Given the description of an element on the screen output the (x, y) to click on. 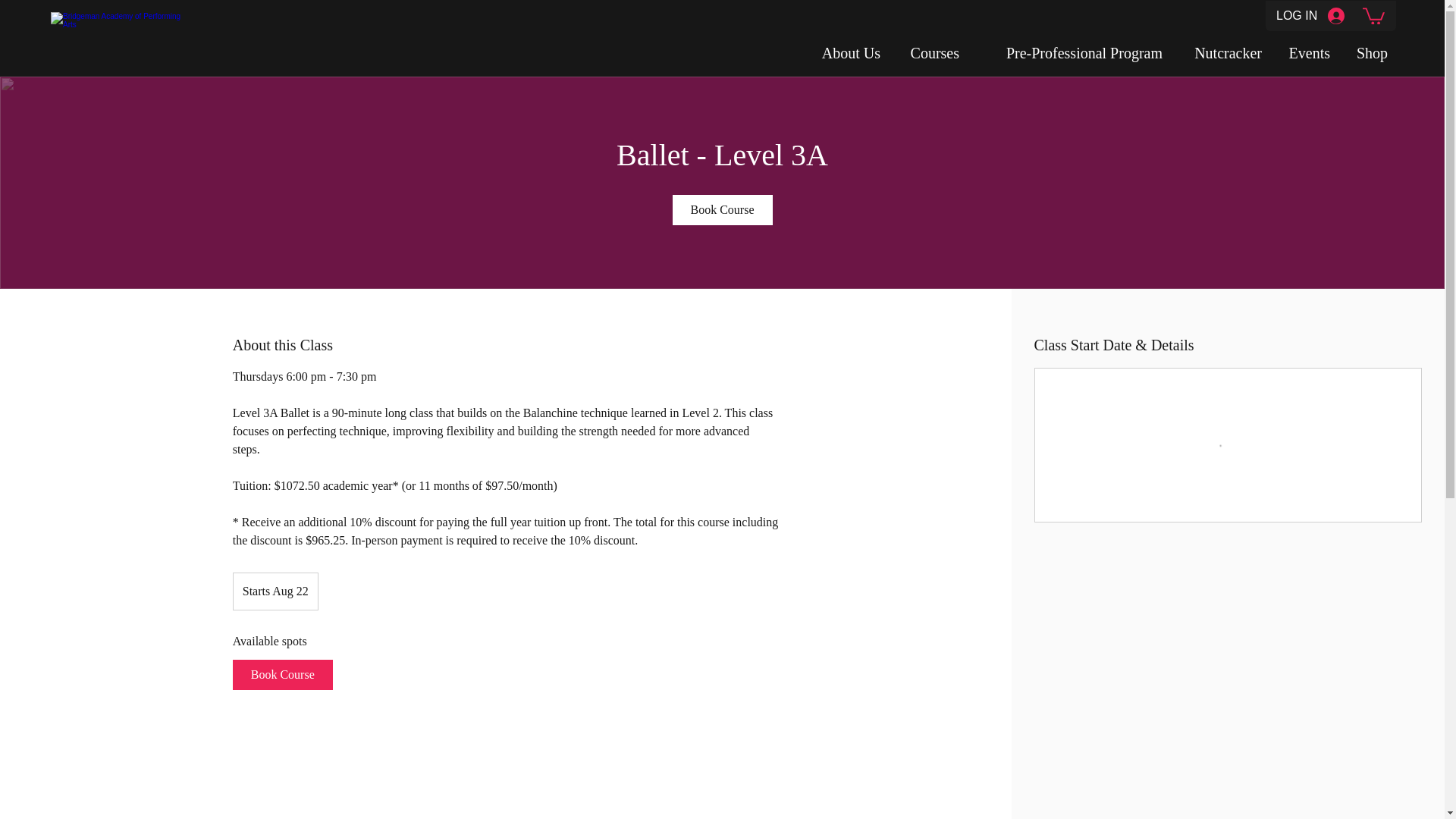
Courses (931, 52)
Nutcracker (1222, 52)
Events (1306, 52)
Pre-Professional Program (1072, 52)
Shop (1369, 52)
Book Course (721, 209)
About Us (848, 52)
LOG IN (1310, 15)
Book Course (282, 675)
